Given the description of an element on the screen output the (x, y) to click on. 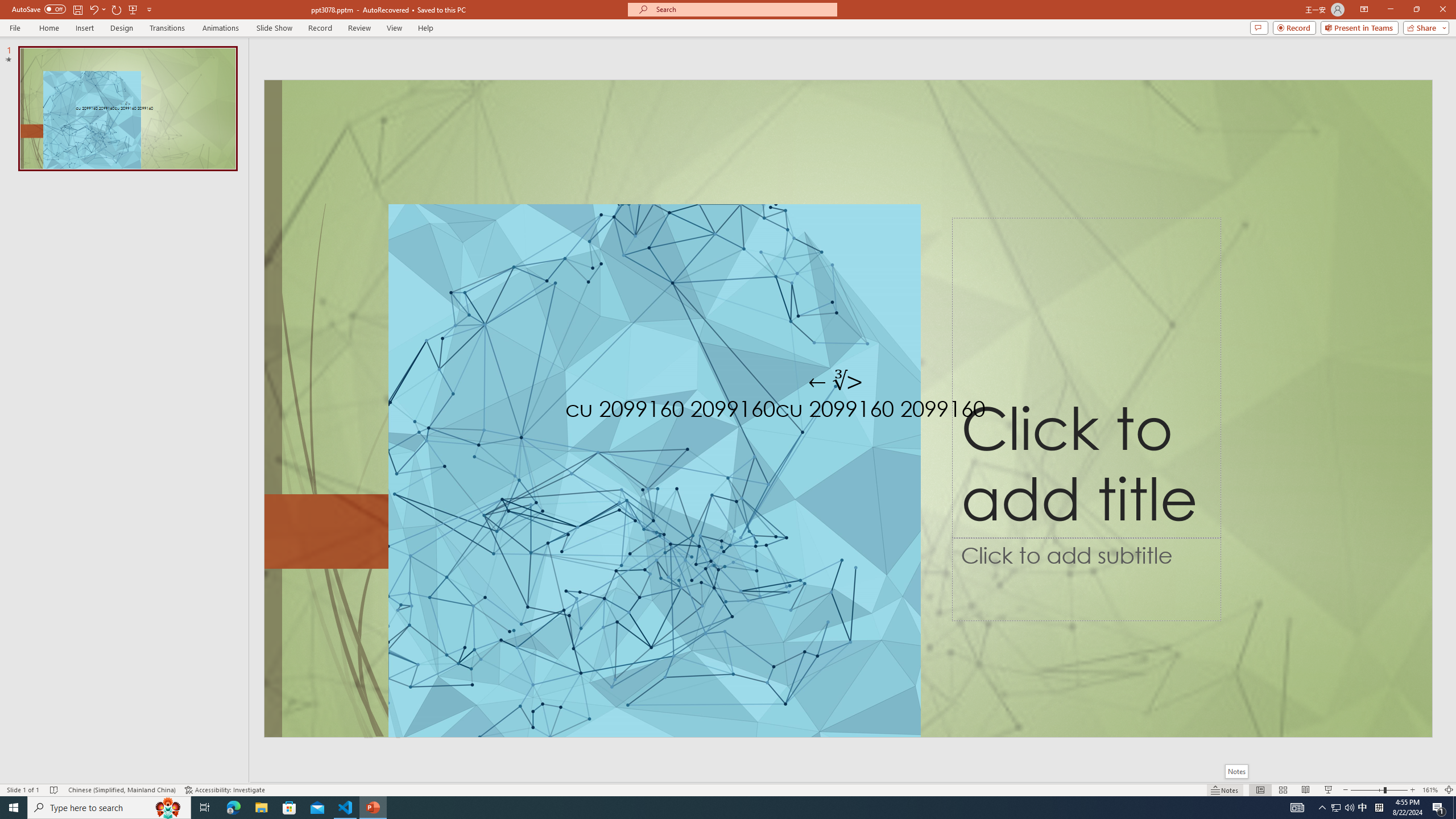
Notes (1235, 771)
